Given the description of an element on the screen output the (x, y) to click on. 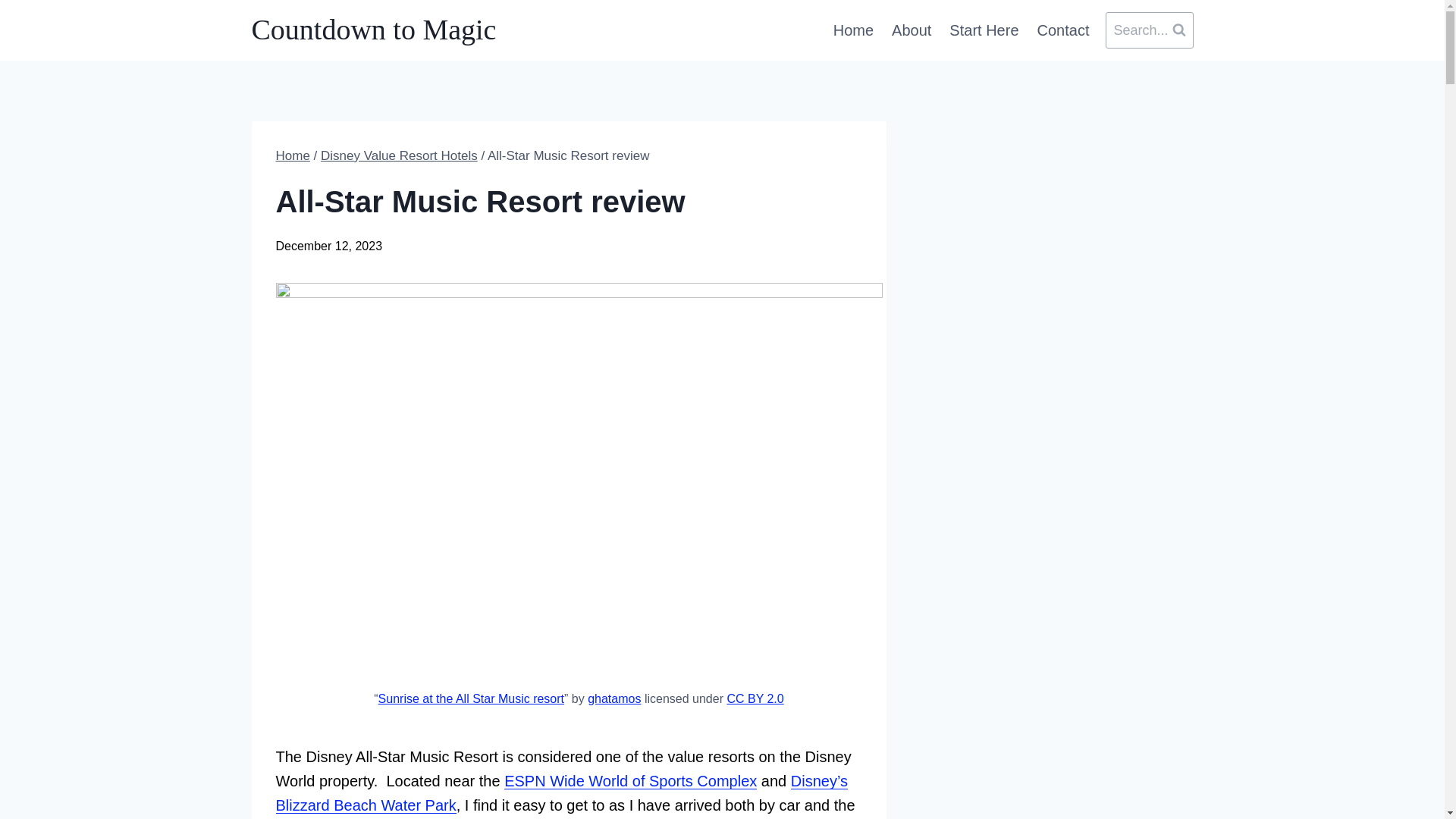
Disney Value Resort Hotels (398, 155)
Search... (1148, 30)
Contact (1063, 30)
Go to ghatamos's photostream (614, 698)
Countdown to Magic (373, 30)
ghatamos (614, 698)
Start Here (983, 30)
Home (853, 30)
About (911, 30)
Home (293, 155)
